Given the description of an element on the screen output the (x, y) to click on. 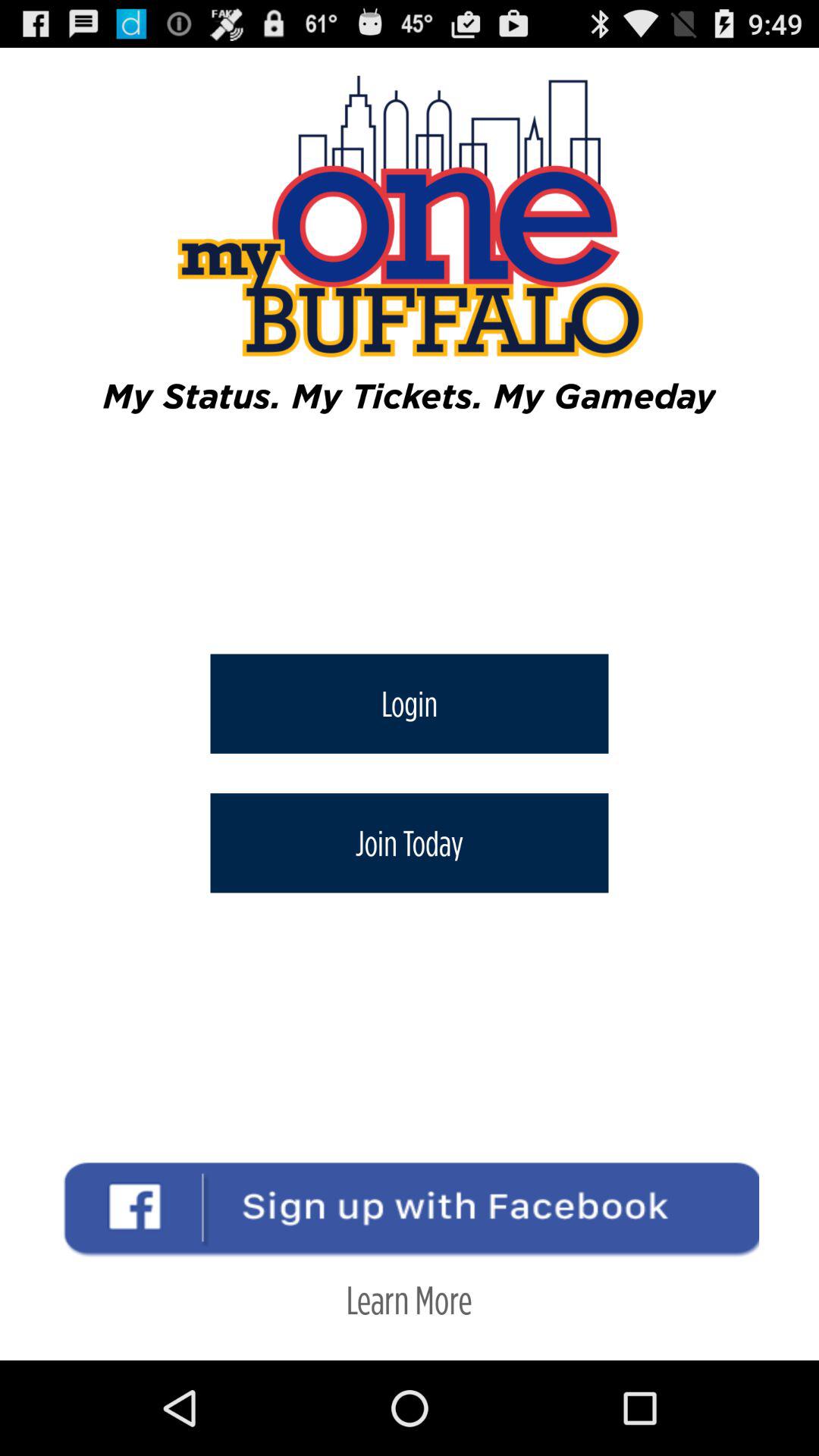
turn off the button below the join today item (409, 1299)
